Given the description of an element on the screen output the (x, y) to click on. 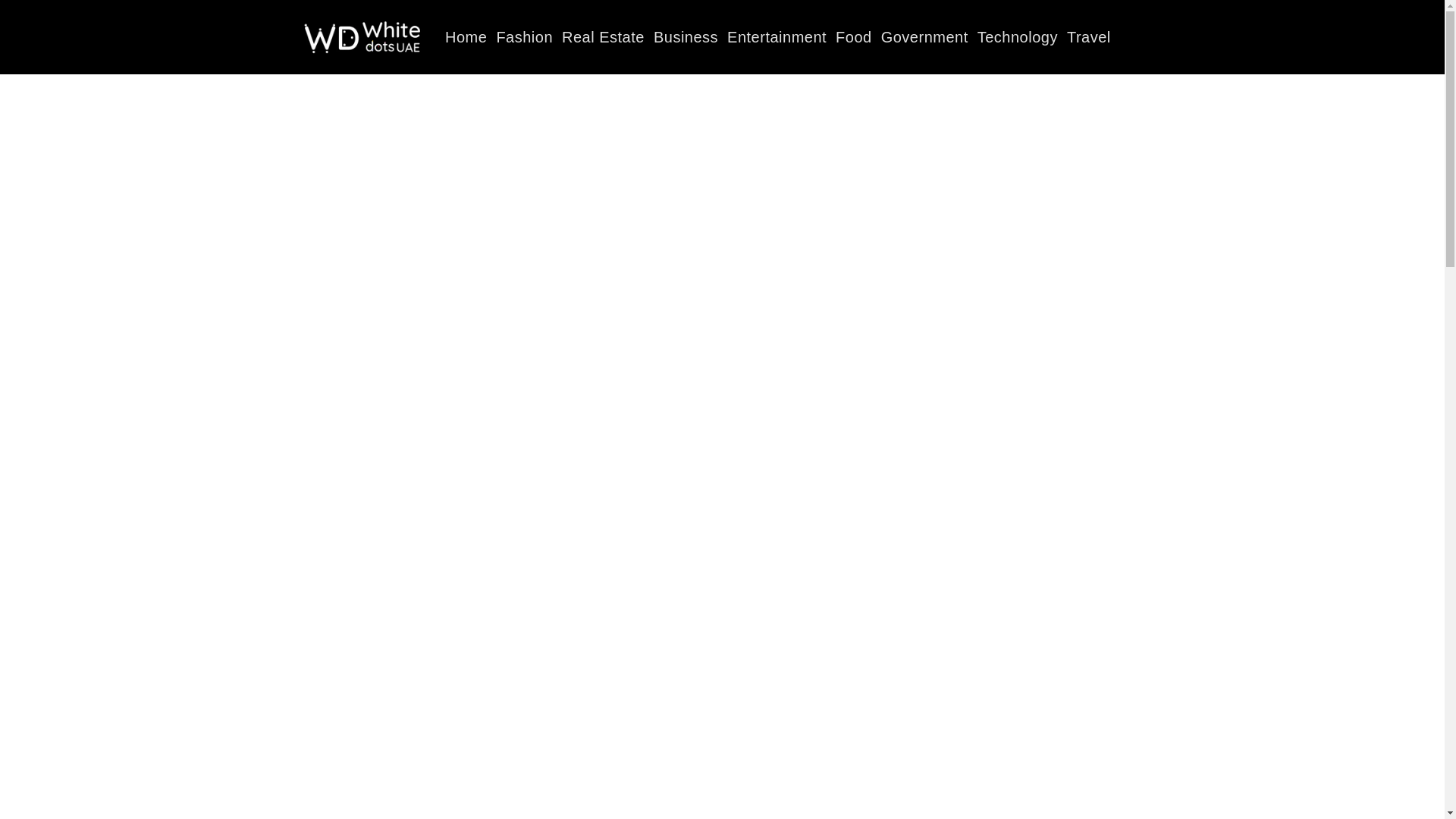
Government (924, 36)
Business (685, 36)
Home (466, 36)
Technology (1017, 36)
Travel (1088, 36)
Entertainment (776, 36)
Food (853, 36)
Real Estate (603, 36)
Fashion (524, 36)
